Given the description of an element on the screen output the (x, y) to click on. 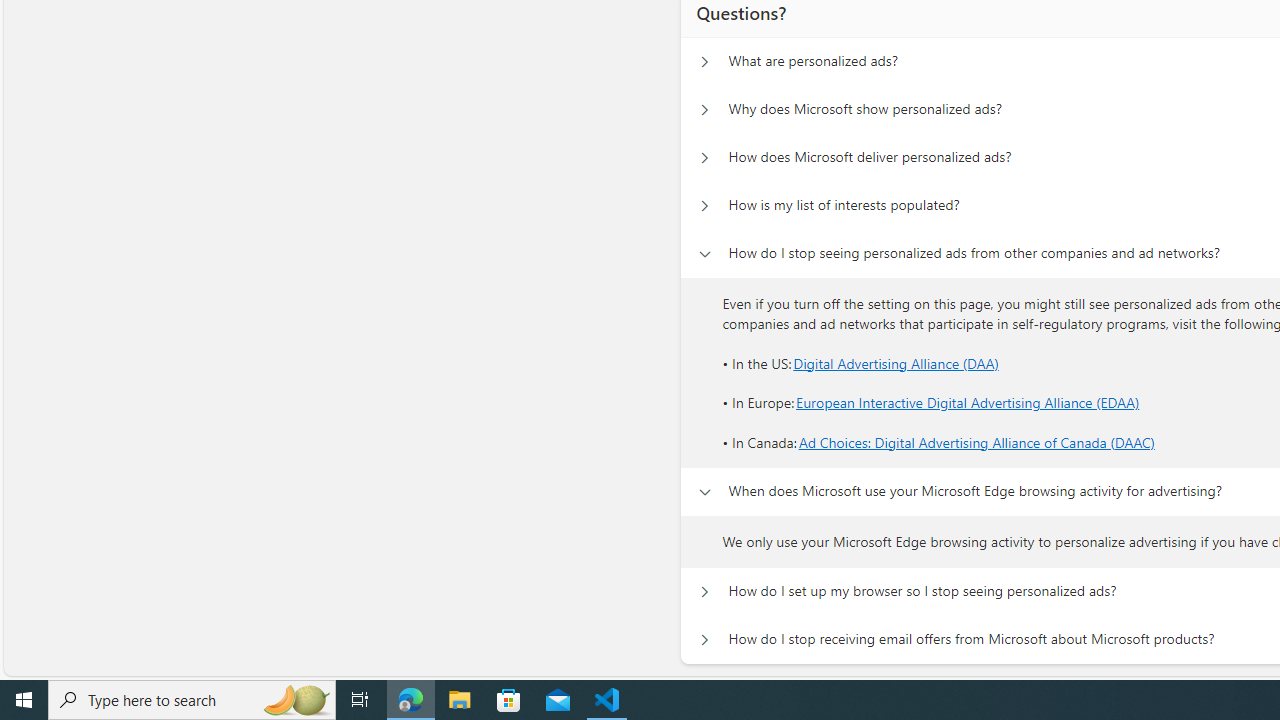
Ad Choices: Digital Advertising Alliance of Canada (DAAC) (975, 442)
European Interactive Digital Advertising Alliance (EDAA) (968, 403)
Digital Advertising Alliance (DAA) (895, 362)
Questions? Why does Microsoft show personalized ads? (704, 110)
Questions? How does Microsoft deliver personalized ads? (704, 157)
Questions? How is my list of interests populated? (704, 206)
Questions? What are personalized ads? (704, 62)
